Given the description of an element on the screen output the (x, y) to click on. 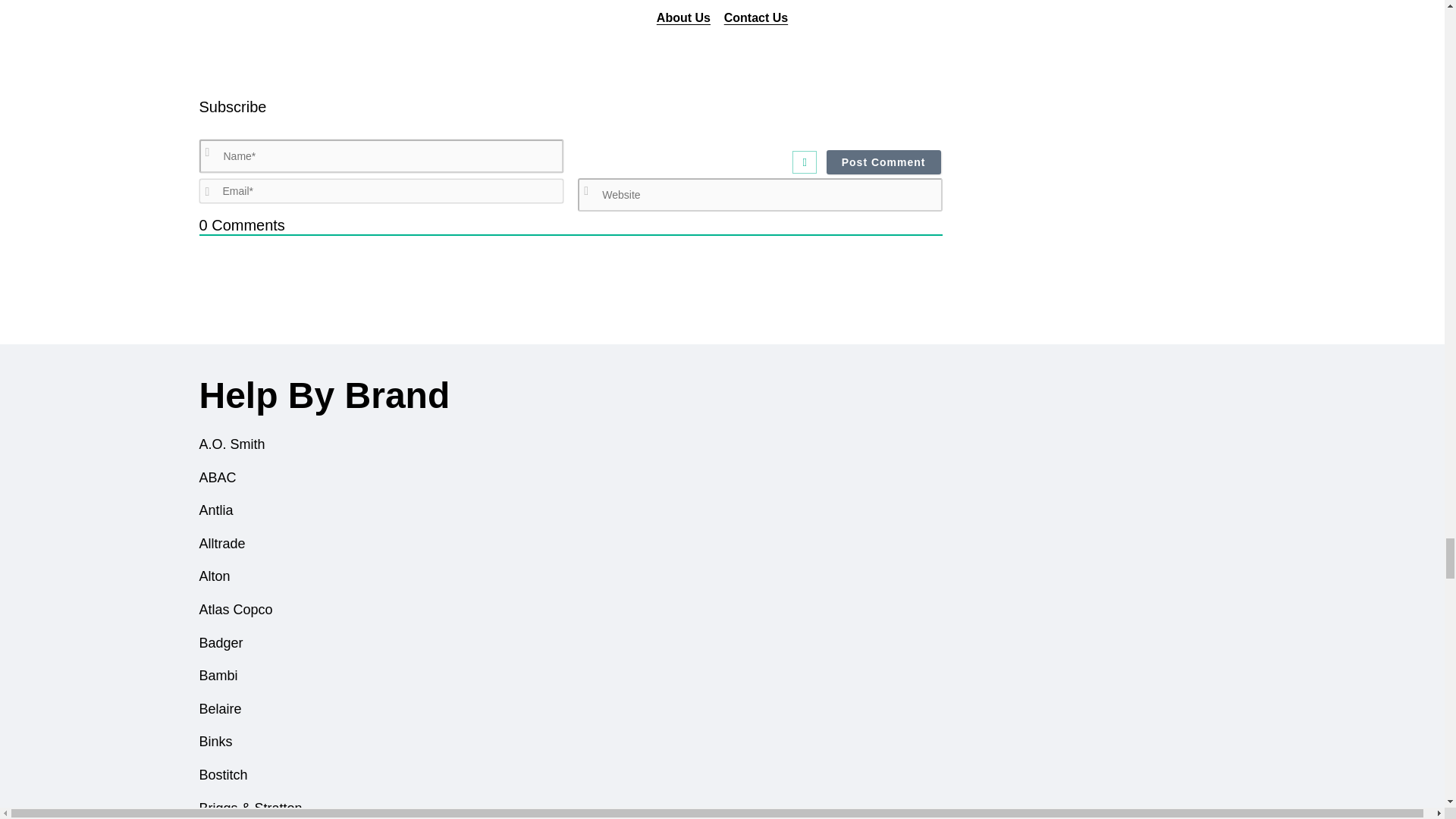
Post Comment (883, 161)
